Given the description of an element on the screen output the (x, y) to click on. 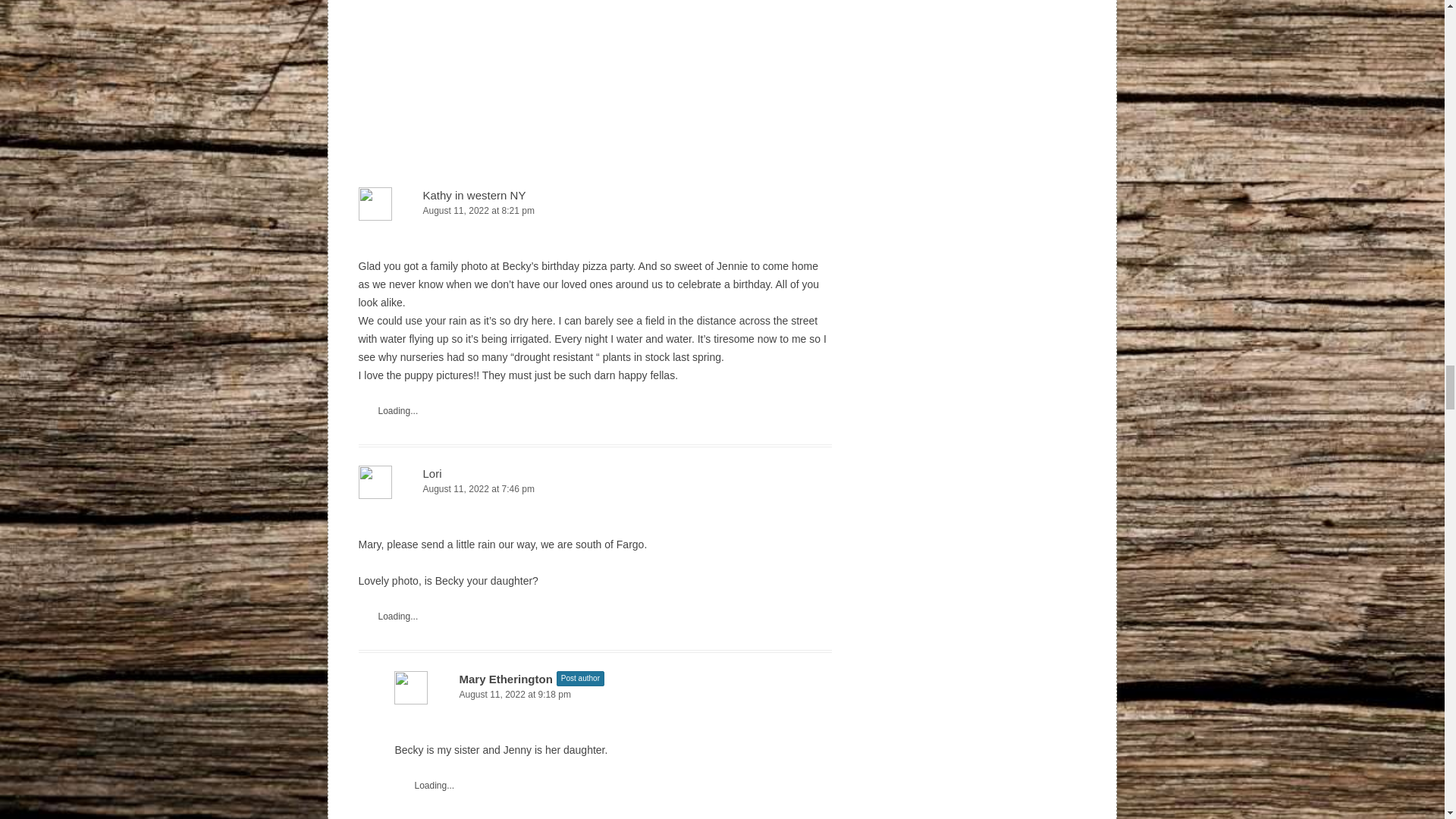
August 11, 2022 at 9:18 pm (612, 694)
August 11, 2022 at 8:21 pm (594, 211)
August 11, 2022 at 7:46 pm (594, 489)
